Given the description of an element on the screen output the (x, y) to click on. 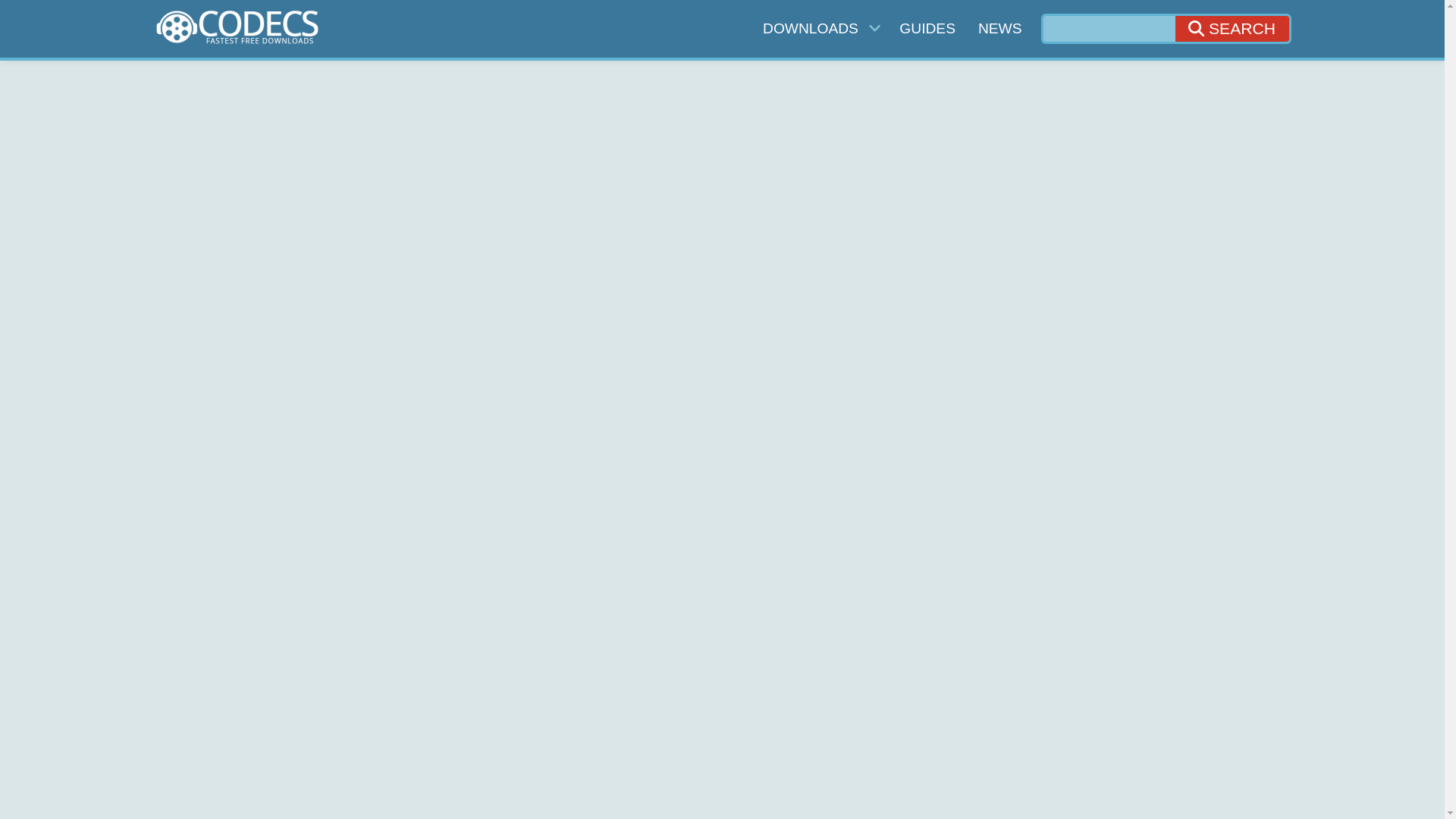
SEARCH (1231, 28)
NEWS (1000, 28)
Guides (927, 28)
GUIDES (927, 28)
News (1000, 28)
DOWNLOADS (819, 28)
Downloads (819, 28)
